Given the description of an element on the screen output the (x, y) to click on. 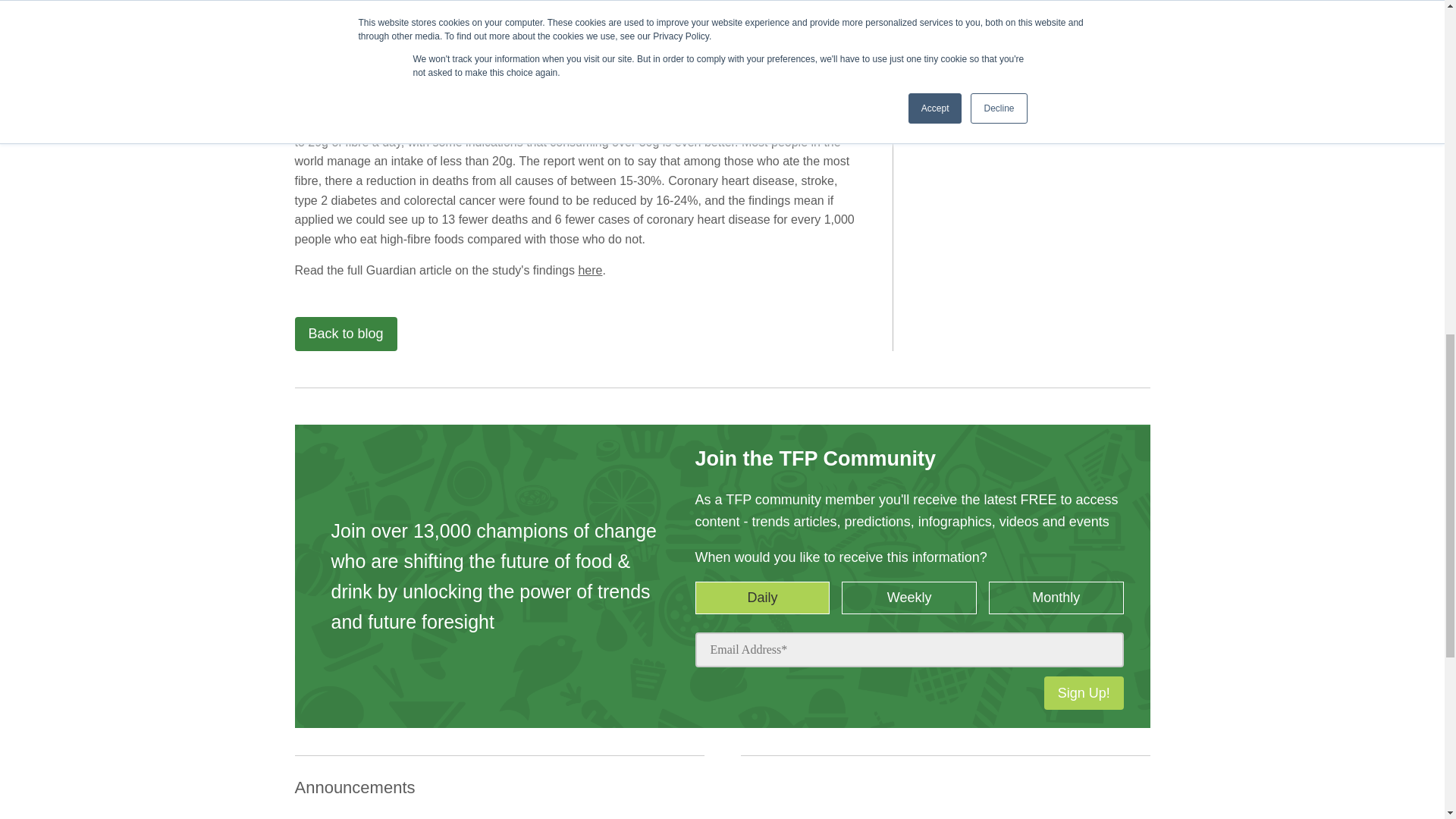
here (590, 269)
Back to blog (345, 333)
Sign Up! (1083, 693)
Sign Up (807, 29)
